Given the description of an element on the screen output the (x, y) to click on. 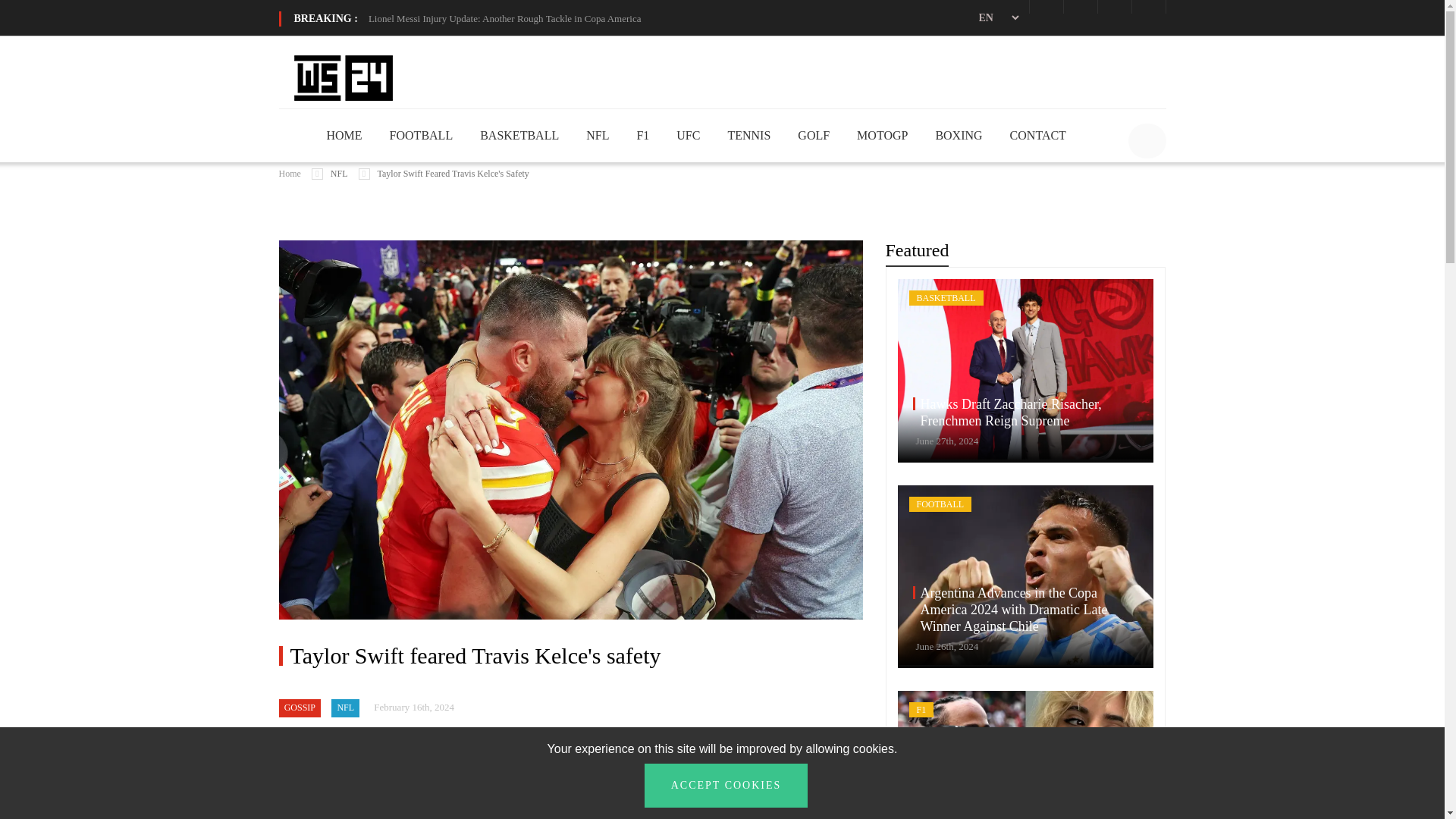
Basketball (519, 135)
WorldSport24 (343, 76)
Youtube (1148, 6)
Home (290, 173)
Kelce was furious (604, 768)
Home (343, 135)
Search articles (1147, 140)
GOLF (813, 135)
Instagram (1113, 6)
Football (421, 135)
TENNIS (748, 135)
HOME (343, 135)
MOTOGP (882, 135)
BASKETBALL (519, 135)
BOXING (957, 135)
